Given the description of an element on the screen output the (x, y) to click on. 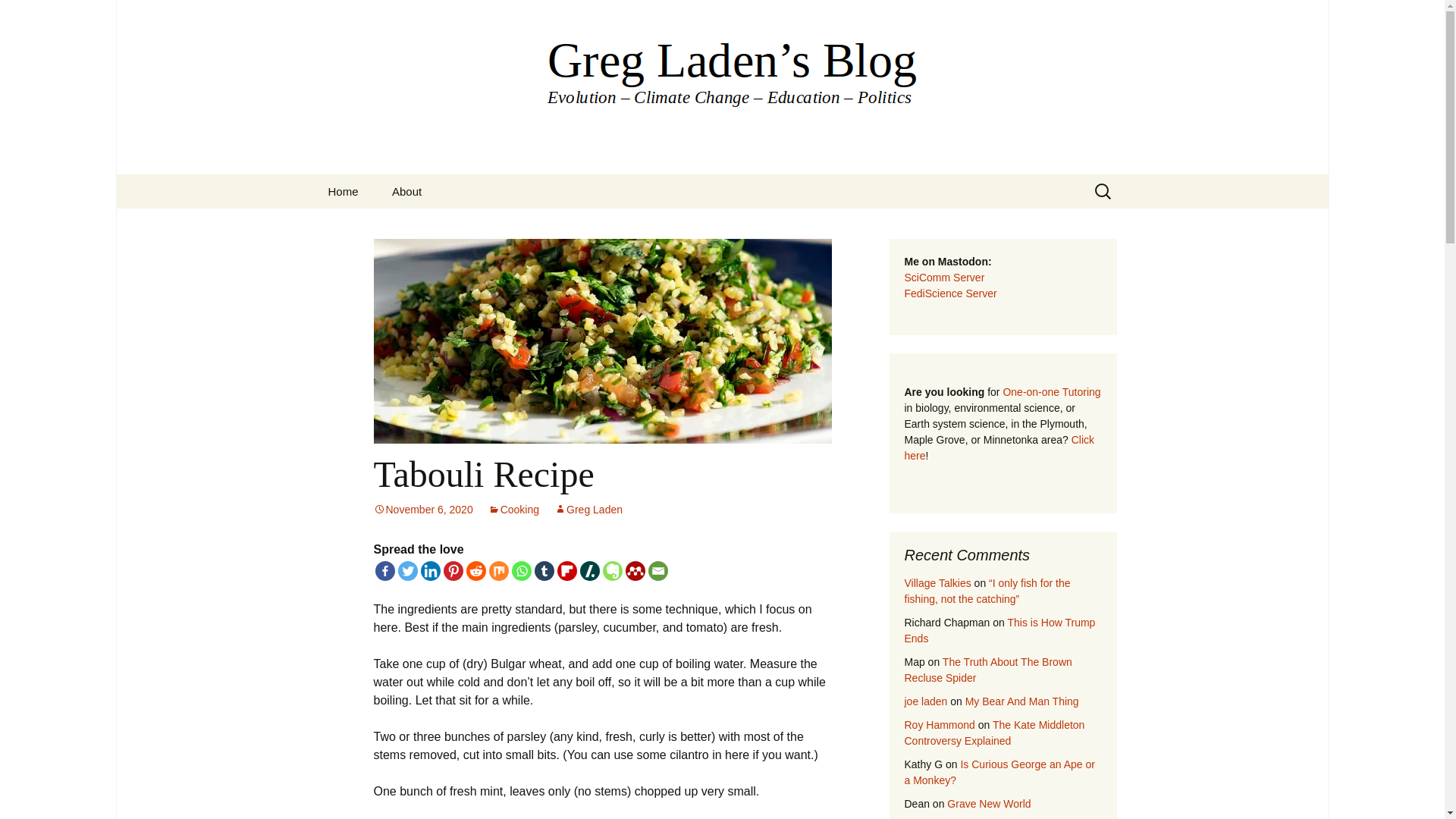
Flipboard (566, 570)
Mix (497, 570)
Greg Laden (588, 509)
November 6, 2020 (421, 509)
Linkedin (429, 570)
Pinterest (452, 570)
Mendeley (634, 570)
About (406, 191)
